Given the description of an element on the screen output the (x, y) to click on. 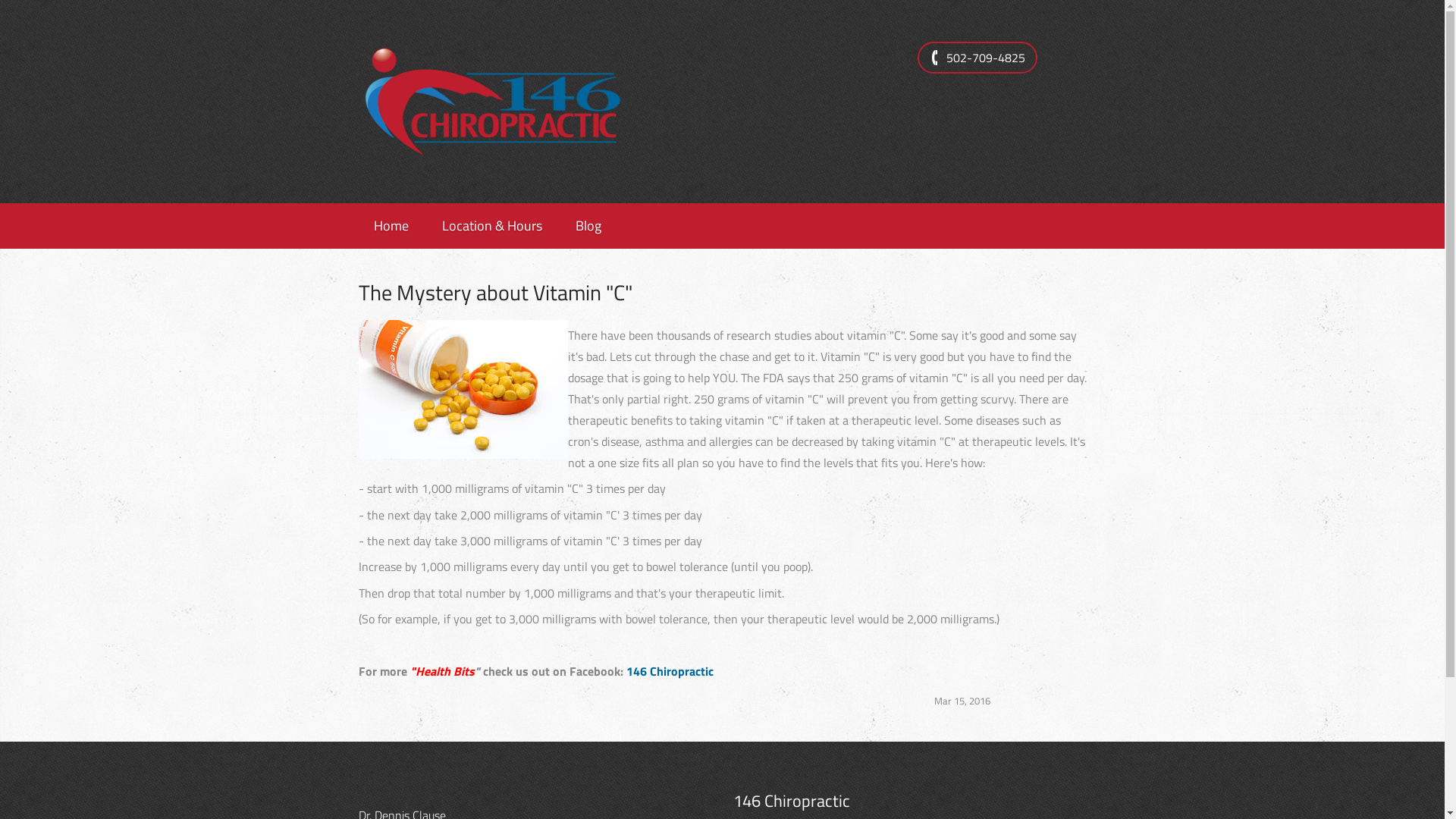
502-709-4825 Element type: text (977, 57)
Location & Hours Element type: text (491, 225)
Home Element type: text (390, 225)
146 Chiropractic Element type: text (669, 671)
Blog Element type: text (587, 225)
